Given the description of an element on the screen output the (x, y) to click on. 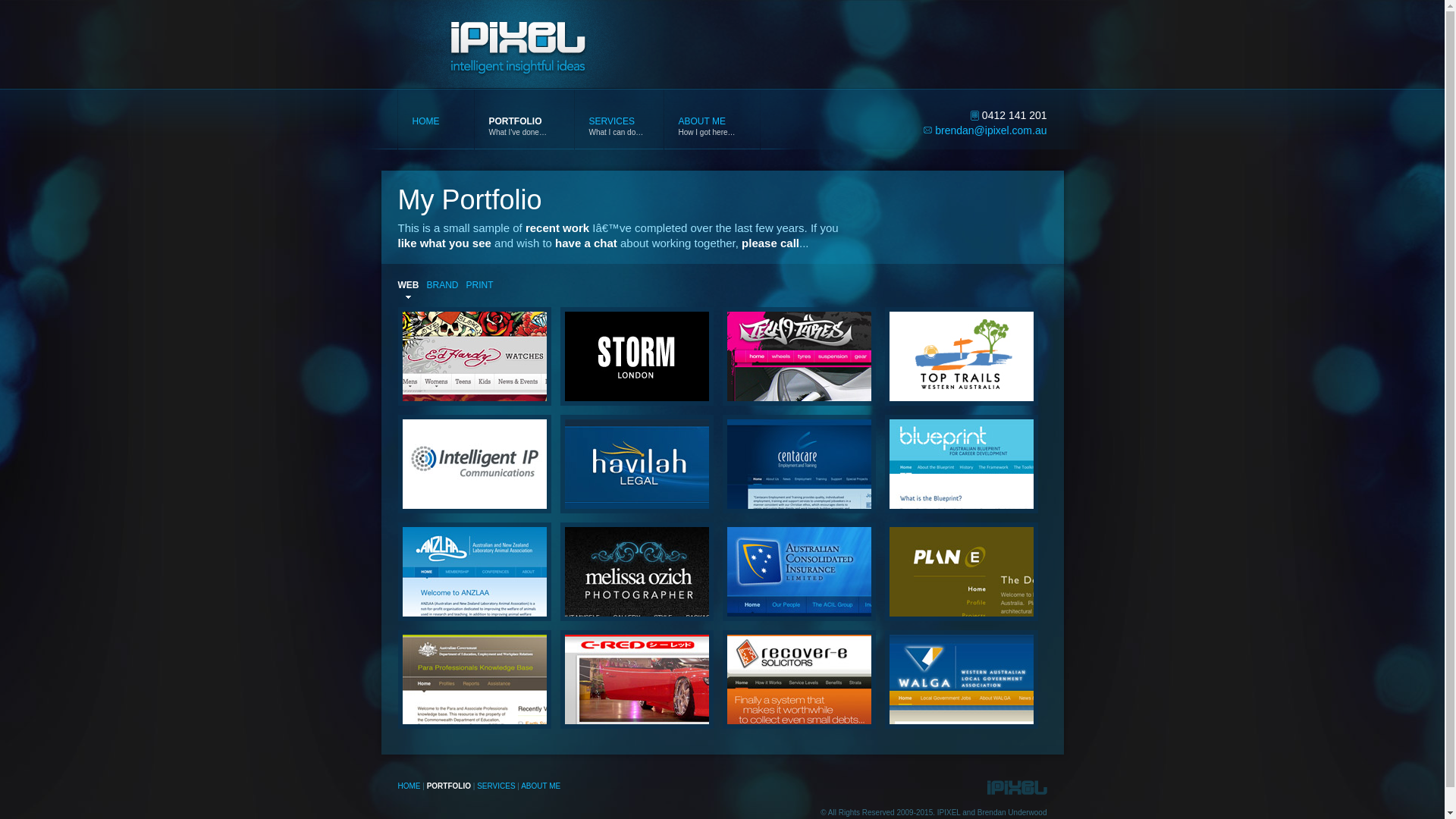
HOME Element type: text (408, 785)
PORTFOLIO Element type: text (523, 121)
HOME Element type: text (435, 121)
PRINT Element type: text (479, 284)
WEB Element type: text (407, 284)
SERVICES Element type: text (618, 121)
PORTFOLIO Element type: text (448, 785)
IPIXEL Element type: hover (514, 78)
brendan@ipixel.com.au Element type: text (990, 130)
ABOUT ME Element type: text (710, 121)
ABOUT ME Element type: text (540, 785)
SERVICES Element type: text (495, 785)
BRAND Element type: text (442, 284)
